Given the description of an element on the screen output the (x, y) to click on. 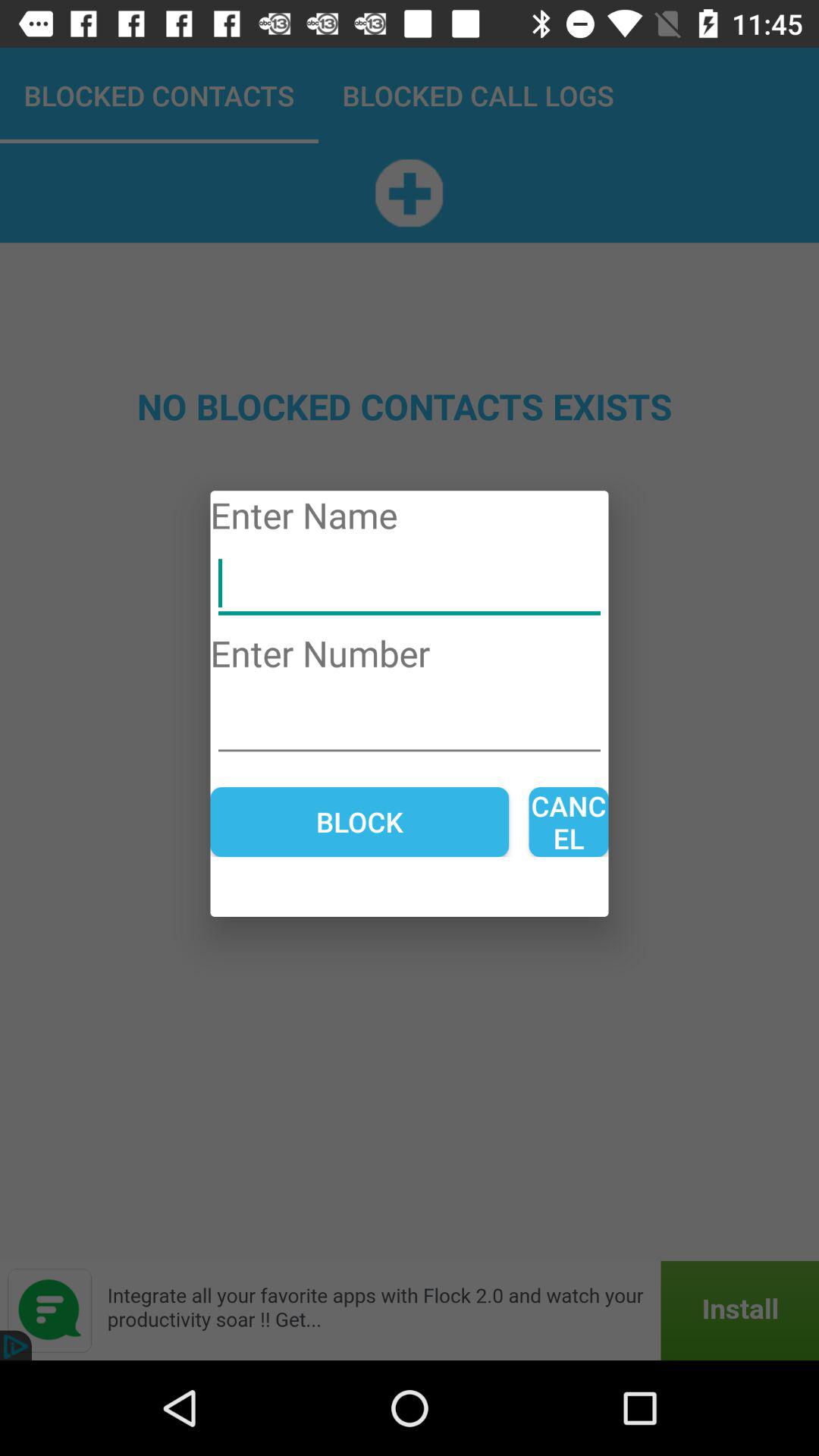
choose cancel item (568, 822)
